Given the description of an element on the screen output the (x, y) to click on. 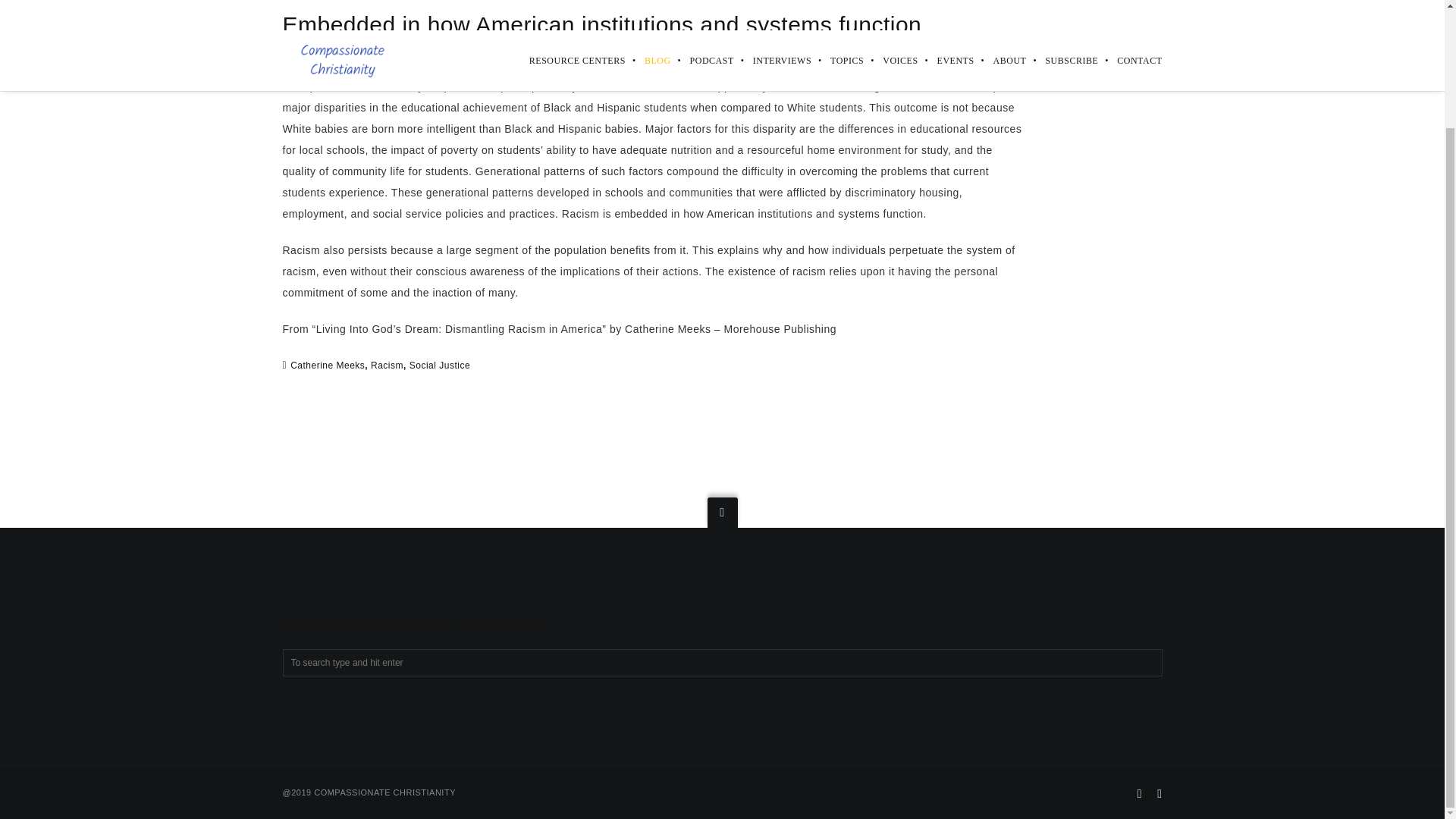
Racism (387, 364)
Catherine Meeks (327, 364)
Search for: (721, 662)
Social Justice (439, 364)
